Given the description of an element on the screen output the (x, y) to click on. 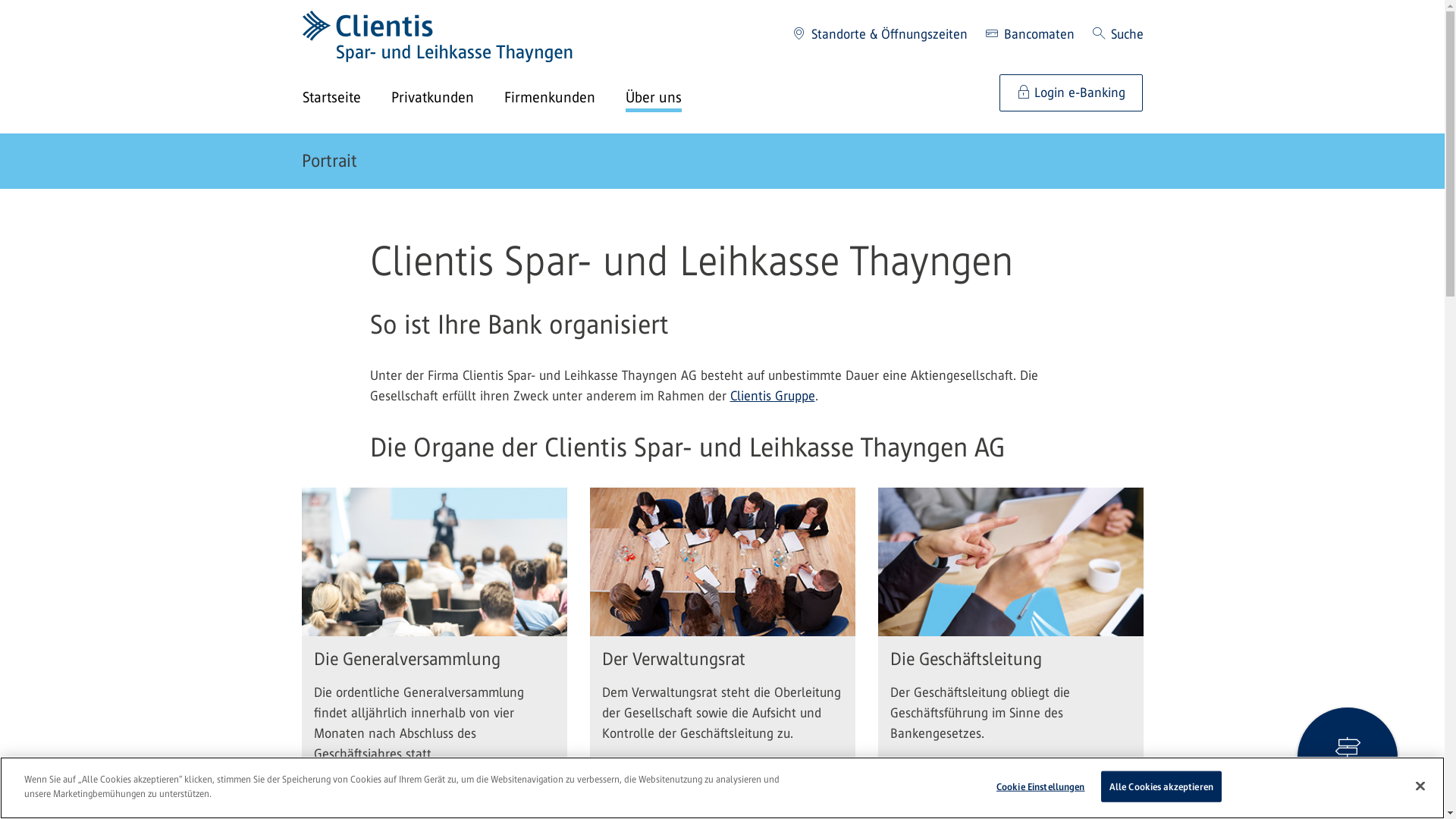
Login e-Banking Element type: text (1070, 92)
Firmenkunden Element type: text (563, 98)
Bancomaten Element type: text (1029, 34)
Alle Cookies akzeptieren Element type: text (1161, 787)
Cookie Einstellungen Element type: text (1040, 786)
Startseite Element type: text (345, 98)
Suche Element type: text (1117, 34)
Privatkunden Element type: text (447, 98)
Kontakt Element type: text (1347, 757)
Portrait Element type: text (329, 160)
Unsere Generalversammlung Element type: text (434, 798)
Unser Verwaltungsrat Element type: text (722, 798)
Clientis Gruppe Element type: text (771, 395)
